Given the description of an element on the screen output the (x, y) to click on. 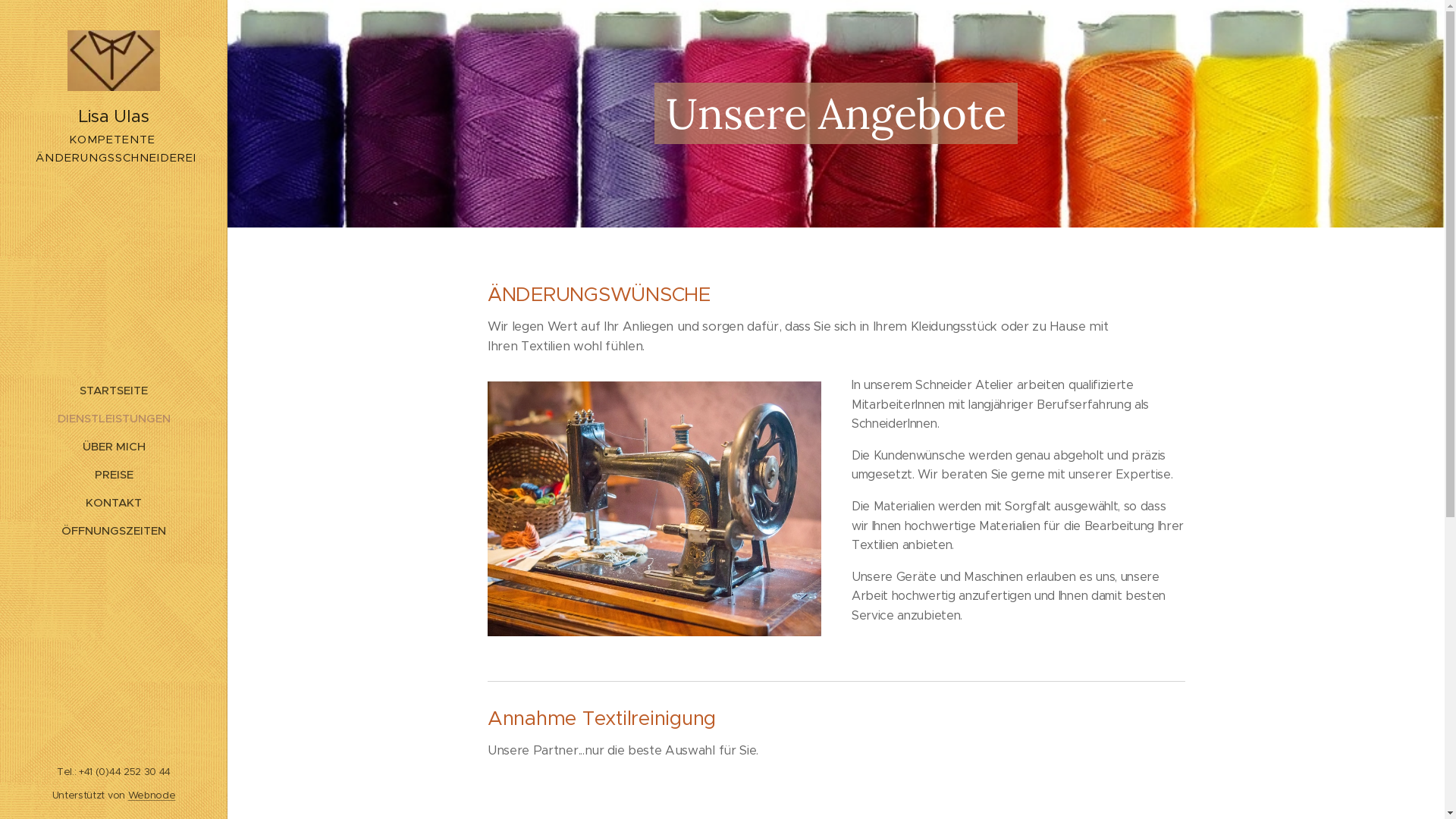
DIENSTLEISTUNGEN Element type: text (113, 417)
PREISE Element type: text (113, 474)
Webnode Element type: text (151, 794)
STARTSEITE Element type: text (113, 389)
Lisa Ulas Element type: text (113, 80)
KONTAKT Element type: text (113, 502)
